Given the description of an element on the screen output the (x, y) to click on. 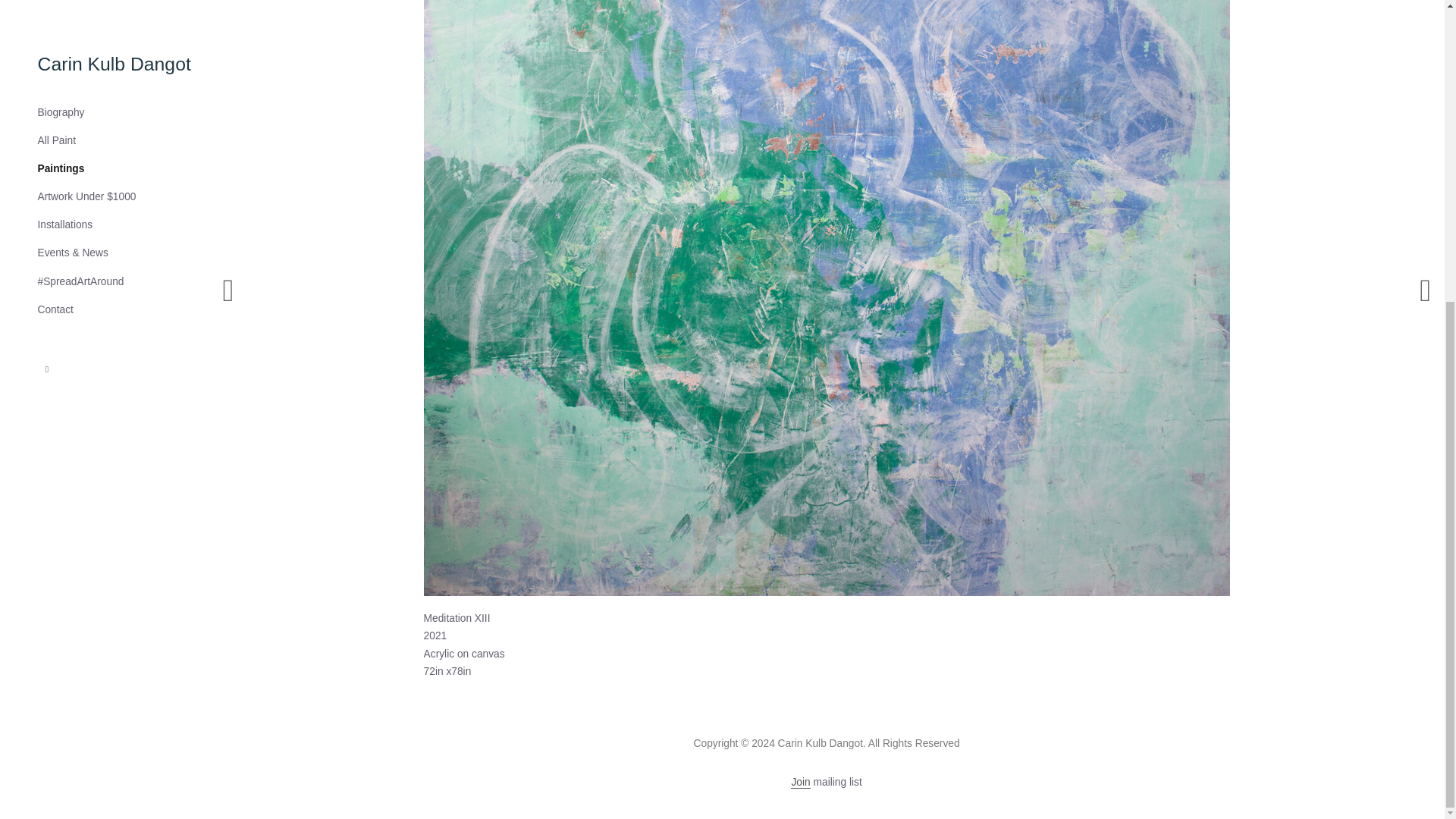
Join (799, 782)
